Given the description of an element on the screen output the (x, y) to click on. 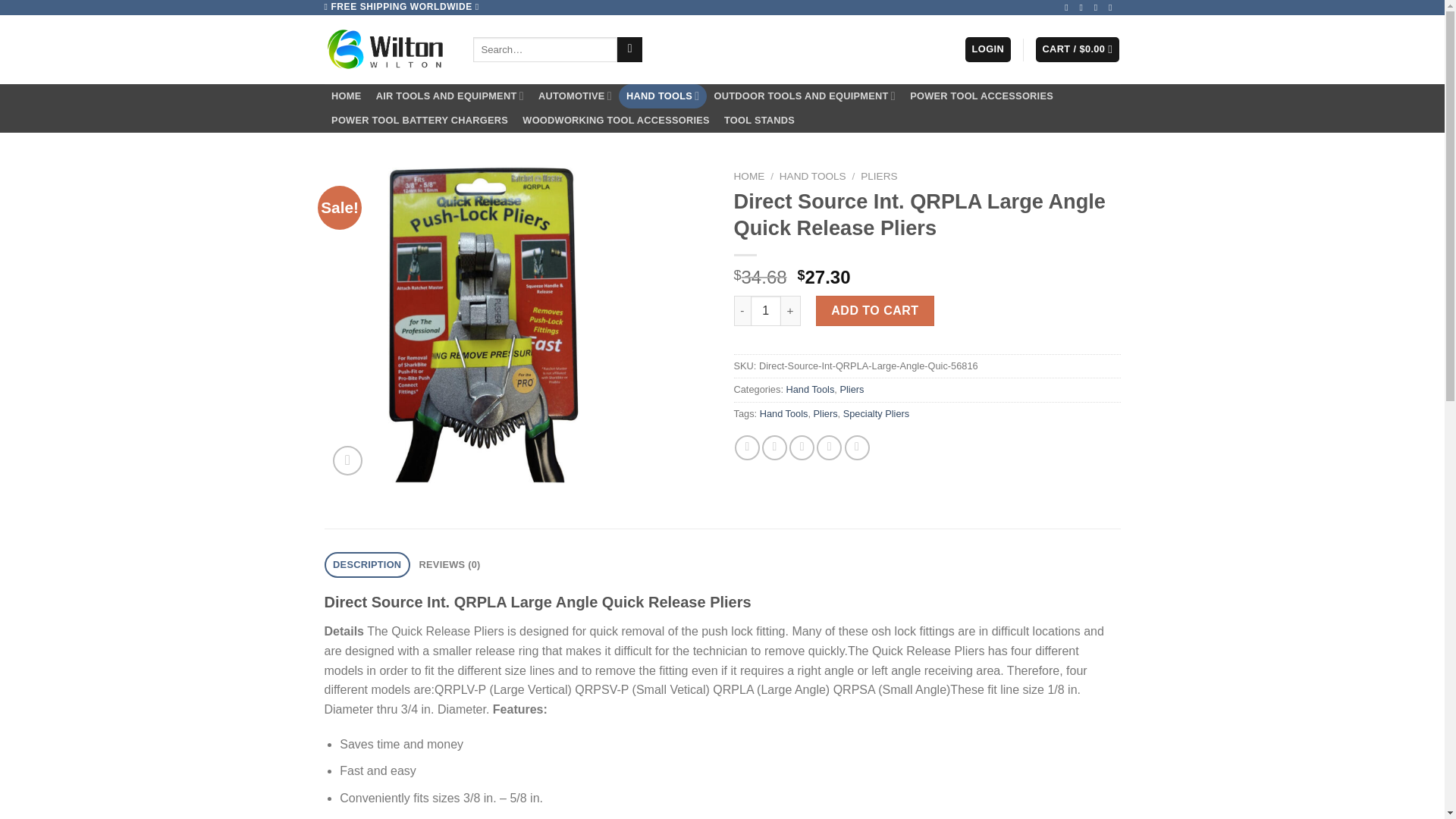
BESTTOOLSGROUP (386, 48)
187626-spir03zylfk-1.jpg (483, 322)
POWER TOOL BATTERY CHARGERS (419, 120)
LOGIN (987, 49)
TOOL STANDS (759, 120)
Search (629, 49)
HAND TOOLS (662, 96)
Email to a Friend (801, 447)
Share on Twitter (774, 447)
OUTDOOR TOOLS AND EQUIPMENT (804, 96)
Hand Tools (810, 389)
HOME (346, 96)
AIR TOOLS AND EQUIPMENT (449, 96)
WOODWORKING TOOL ACCESSORIES (616, 120)
HOME (749, 175)
